Given the description of an element on the screen output the (x, y) to click on. 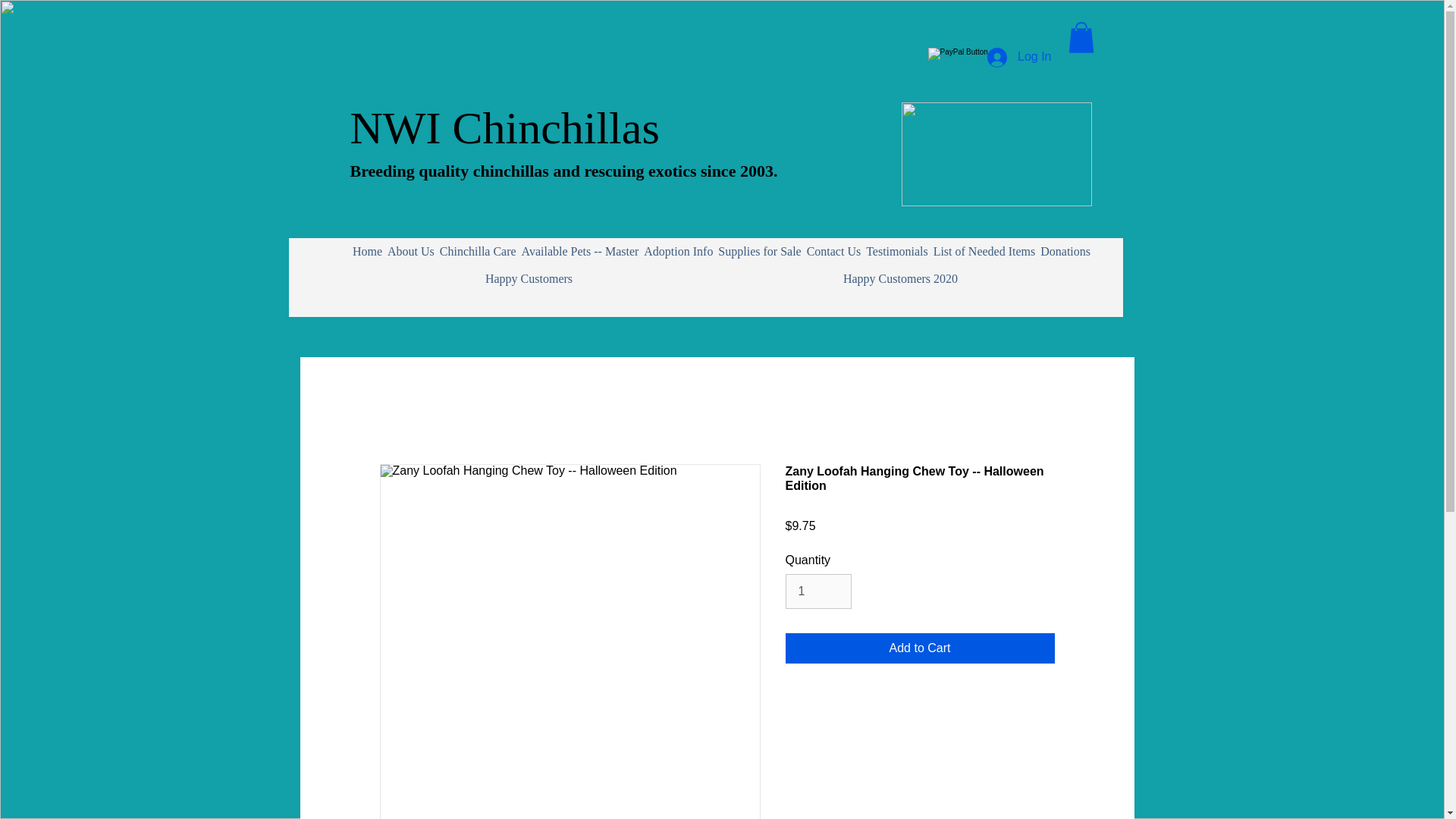
Supplies for Sale (759, 251)
About Us (411, 251)
Chinchilla Care (477, 251)
Available Pets -- Master (580, 251)
Home (367, 251)
Adoption Info (679, 251)
1 (818, 591)
